Given the description of an element on the screen output the (x, y) to click on. 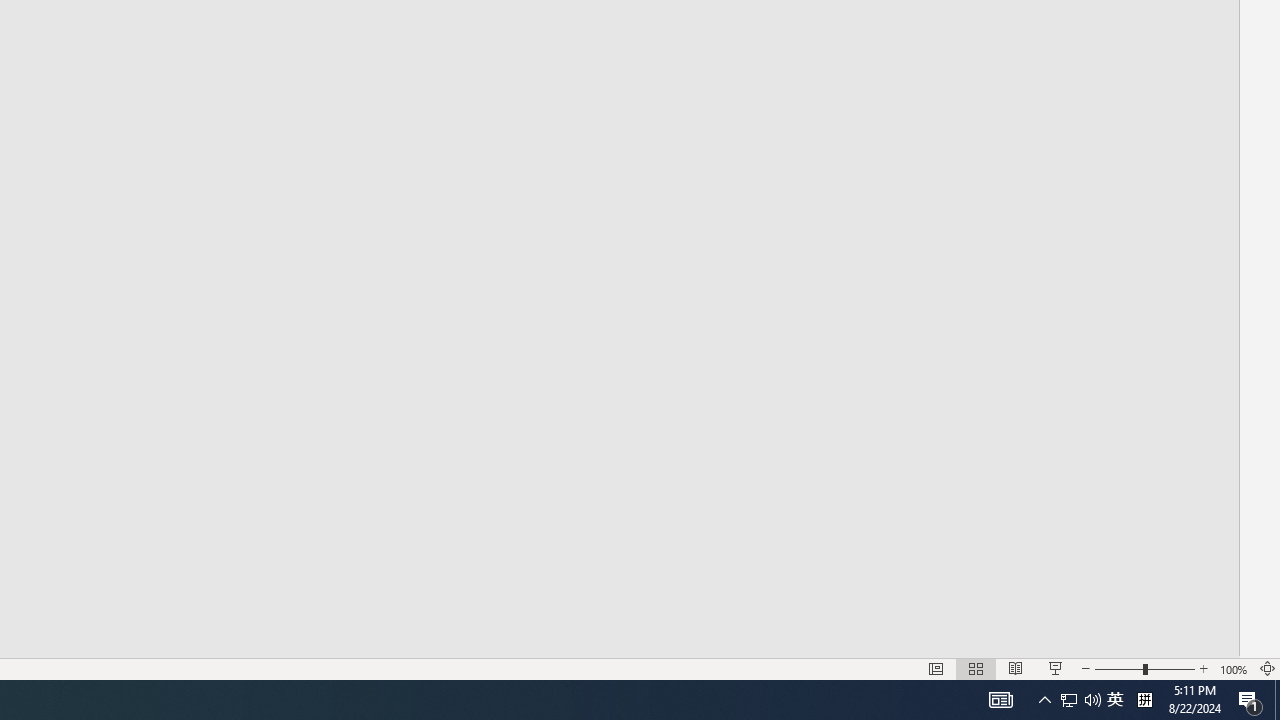
Zoom 100% (1234, 668)
